Given the description of an element on the screen output the (x, y) to click on. 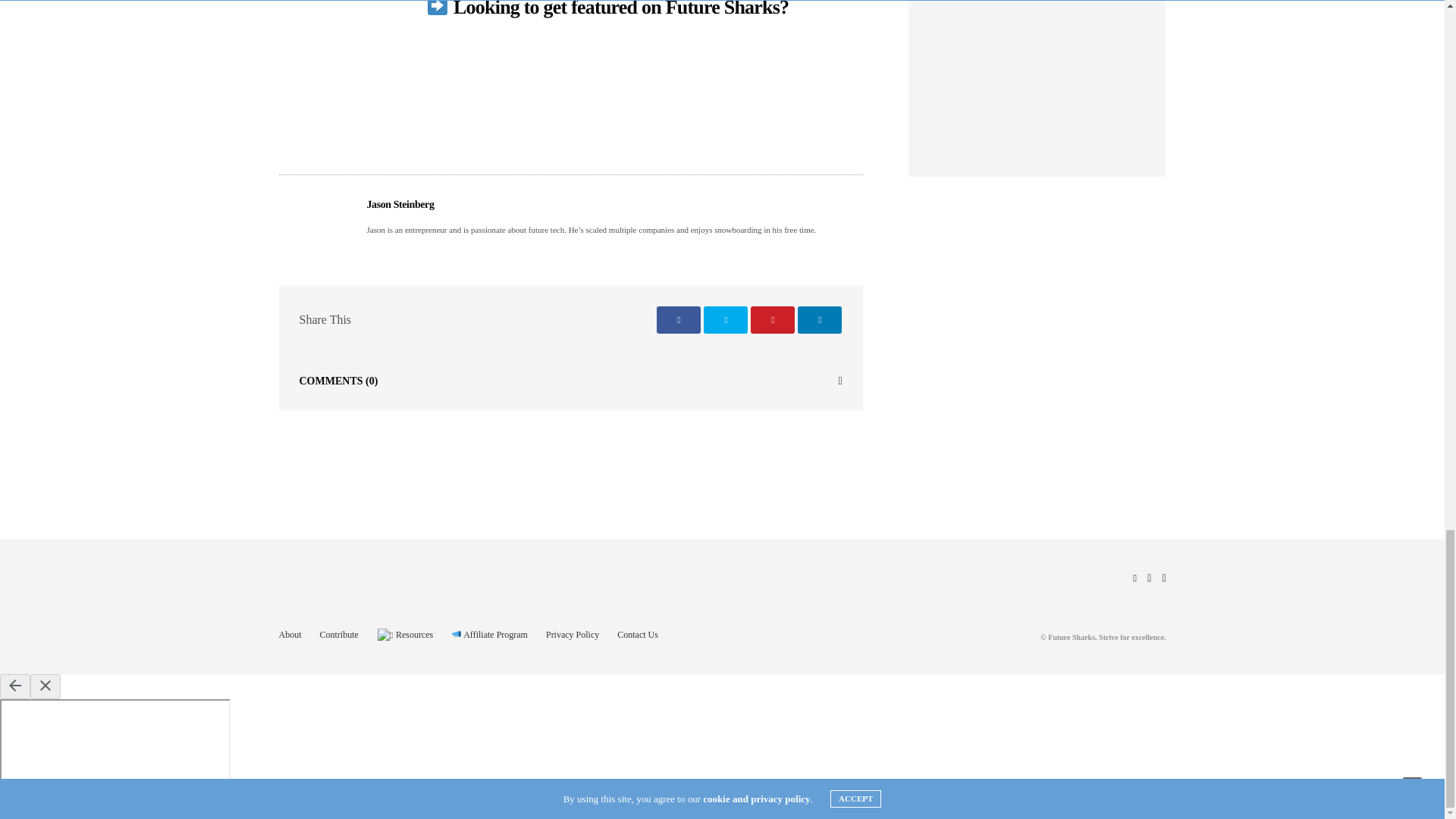
Jason Steinberg (399, 204)
